Given the description of an element on the screen output the (x, y) to click on. 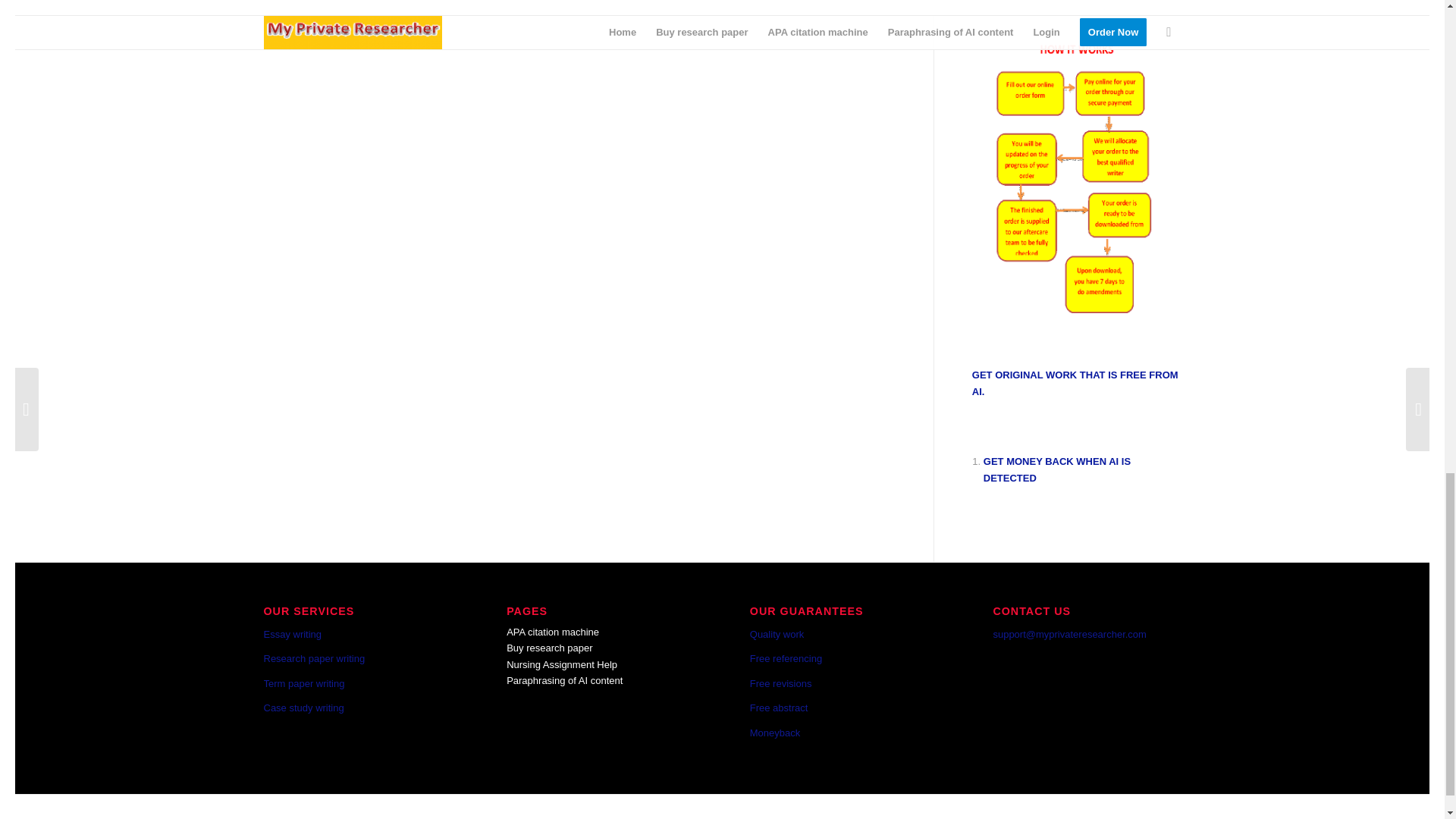
Nursing Assignment Help (561, 664)
APA citation machine (552, 632)
Buy research paper (549, 647)
Paraphrasing of AI content (564, 680)
